Given the description of an element on the screen output the (x, y) to click on. 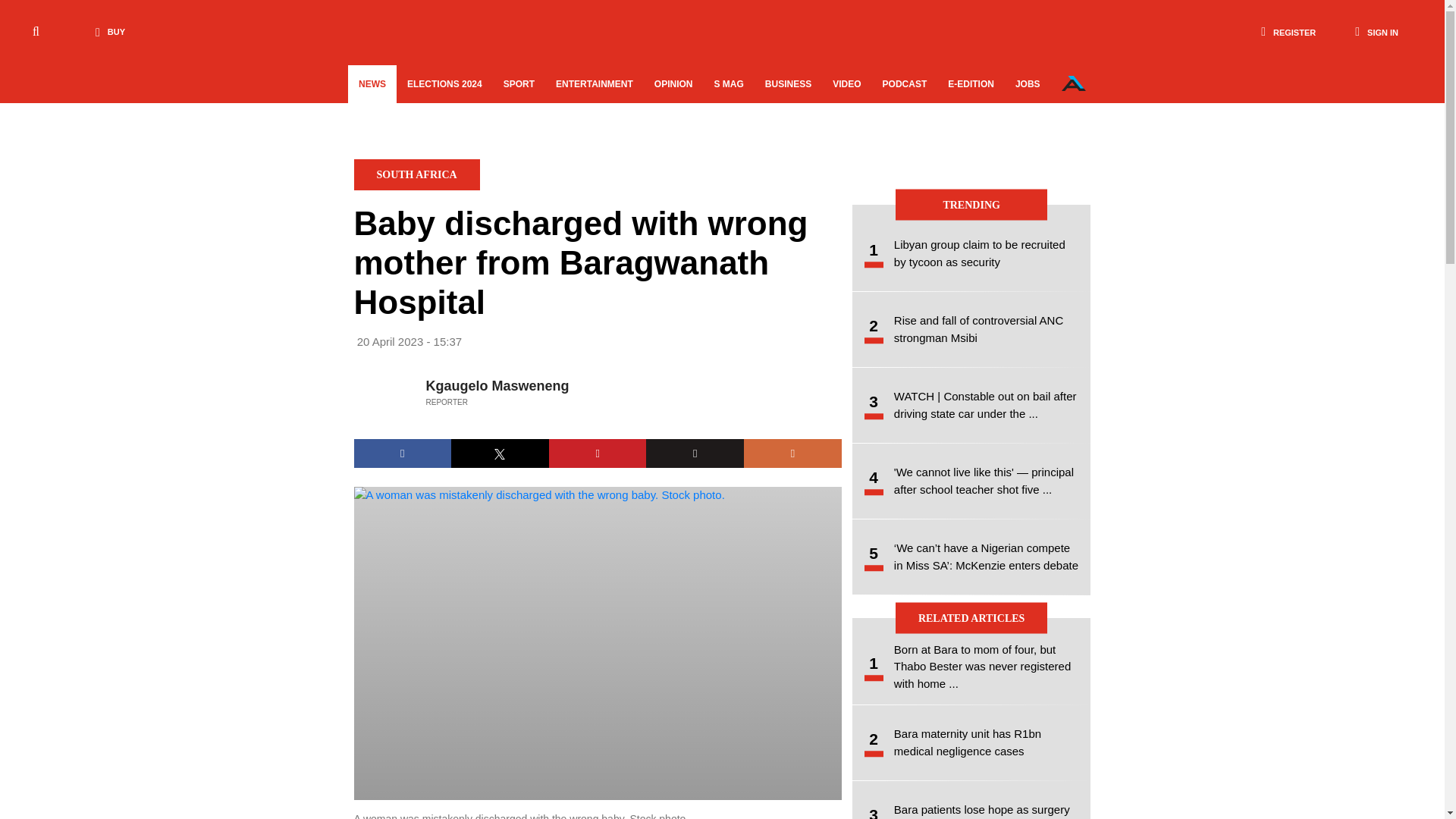
NEWS (371, 84)
SIGN IN (1376, 32)
ENTERTAINMENT (593, 84)
JOBS (1027, 84)
E-EDITION (970, 84)
VIDEO (846, 84)
BUSINESS (788, 84)
OPINION (673, 84)
ELECTIONS 2024 (444, 84)
REGISTER (1288, 32)
S MAG (728, 84)
PODCAST (904, 84)
SPORT (518, 84)
Our Network (1073, 83)
BUY (106, 32)
